Given the description of an element on the screen output the (x, y) to click on. 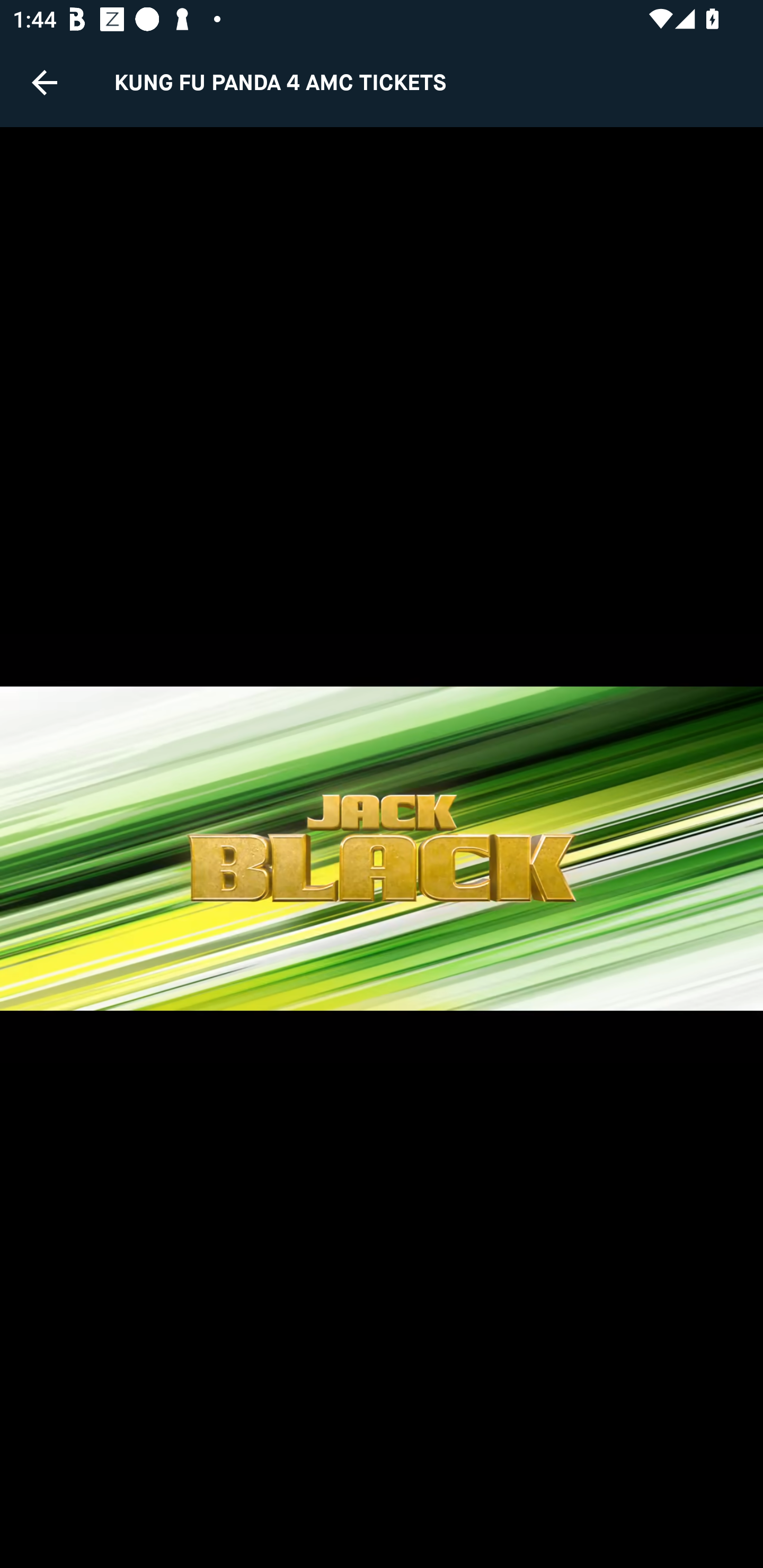
Navigate up (44, 82)
